Given the description of an element on the screen output the (x, y) to click on. 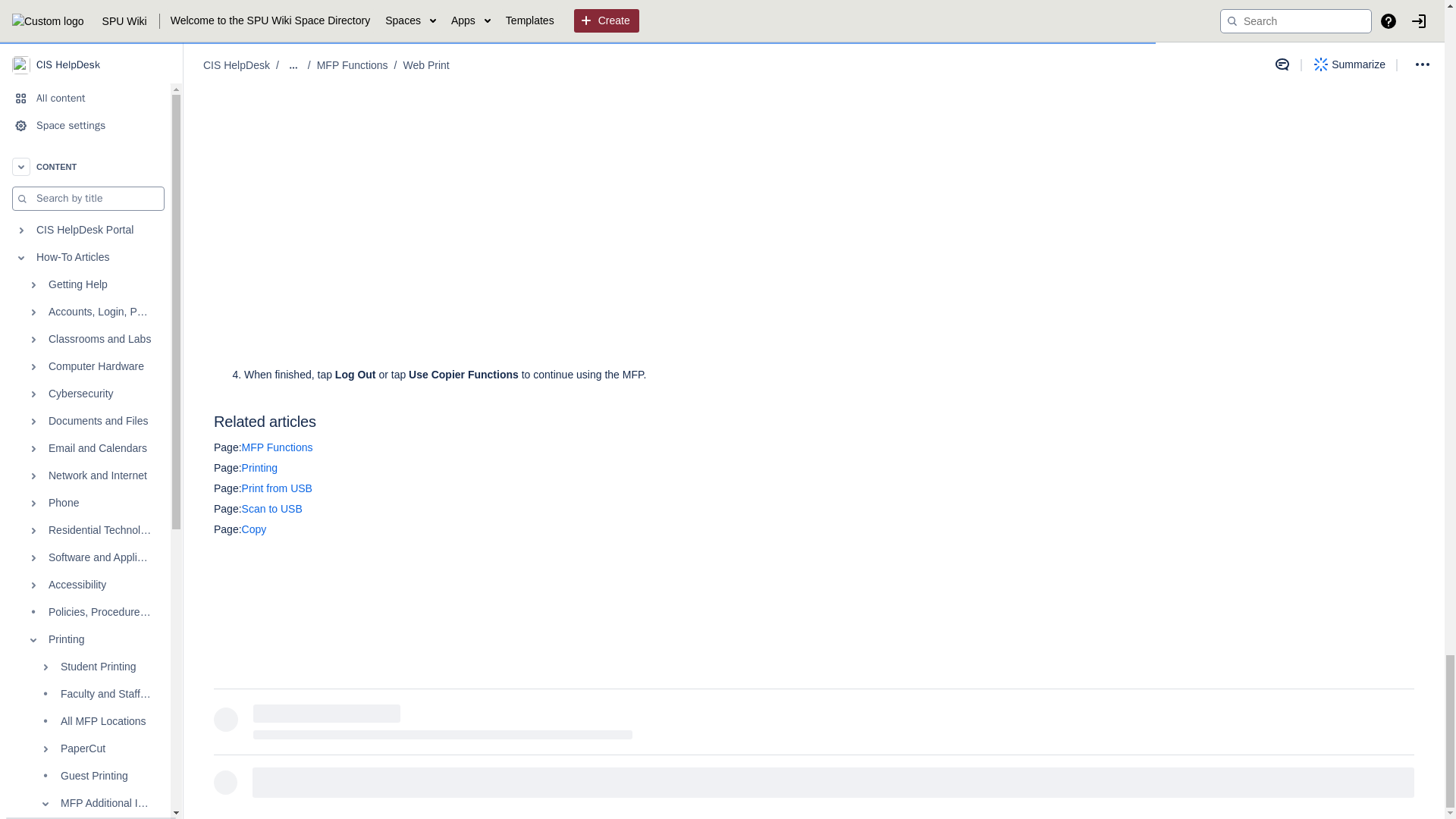
Page (227, 529)
Page (227, 447)
Page (227, 467)
Page (227, 508)
Page (227, 488)
